Given the description of an element on the screen output the (x, y) to click on. 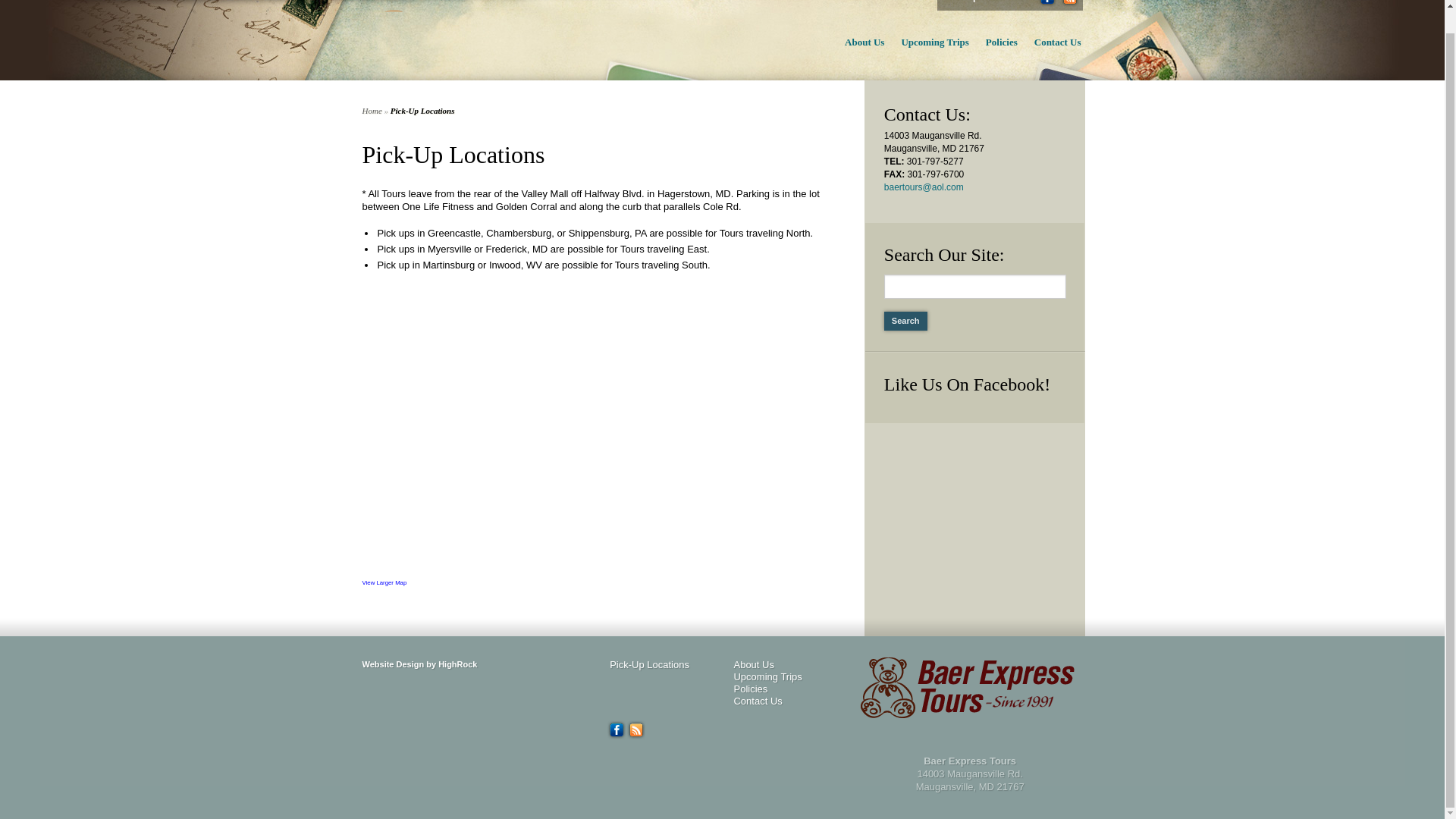
Contact Us (1050, 44)
About Us (753, 664)
Upcoming Trips (926, 44)
Home (371, 110)
Pick-Up Locations (984, 1)
Search (905, 321)
Upcoming Trips (767, 676)
Website Design by HighRock (419, 664)
About Us (856, 44)
Contact Us (757, 700)
